Given the description of an element on the screen output the (x, y) to click on. 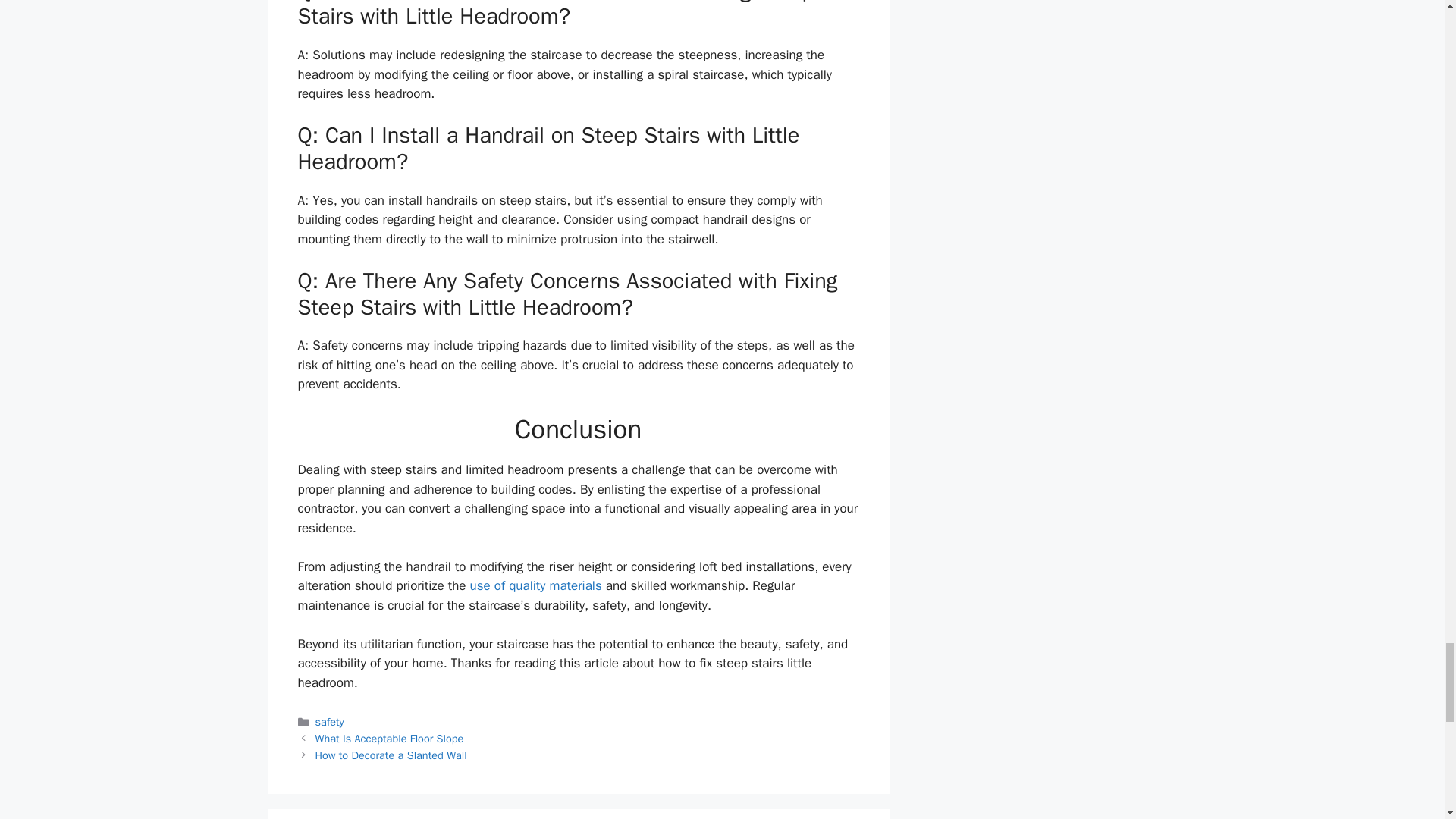
How to Decorate a Slanted Wall (391, 755)
use of quality materials (535, 585)
safety (329, 721)
What Is Acceptable Floor Slope (389, 738)
